Given the description of an element on the screen output the (x, y) to click on. 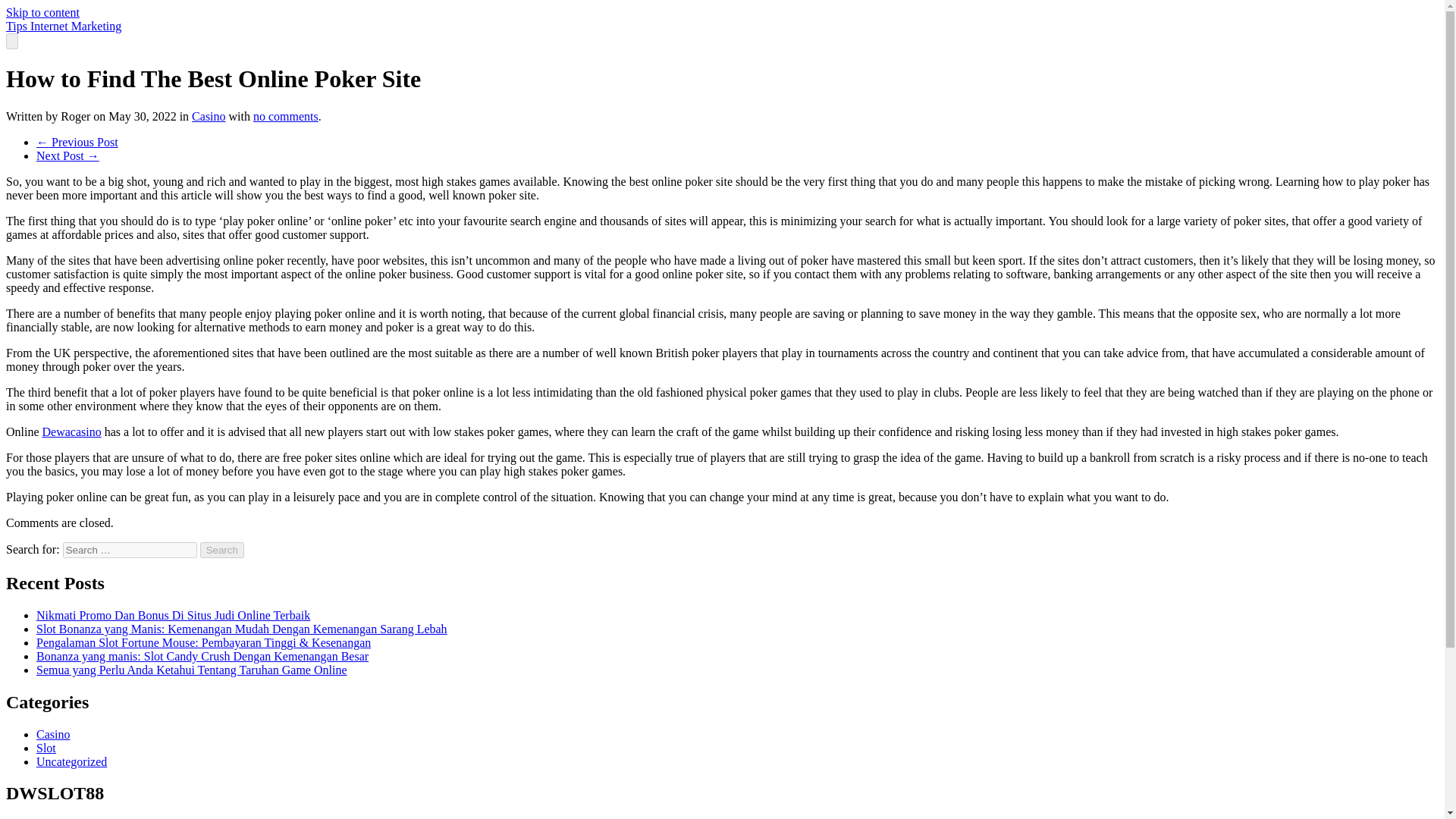
Skip to content (42, 11)
Menu (11, 41)
Search (222, 549)
Uncategorized (71, 761)
Dewacasino (71, 431)
Casino (208, 115)
Slot (46, 748)
Bonanza yang manis: Slot Candy Crush Dengan Kemenangan Besar (202, 656)
no comments (285, 115)
Semua yang Perlu Anda Ketahui Tentang Taruhan Game Online (191, 669)
Casino (52, 734)
Tips Internet Marketing (62, 25)
Search (222, 549)
open navigation links (11, 41)
